Given the description of an element on the screen output the (x, y) to click on. 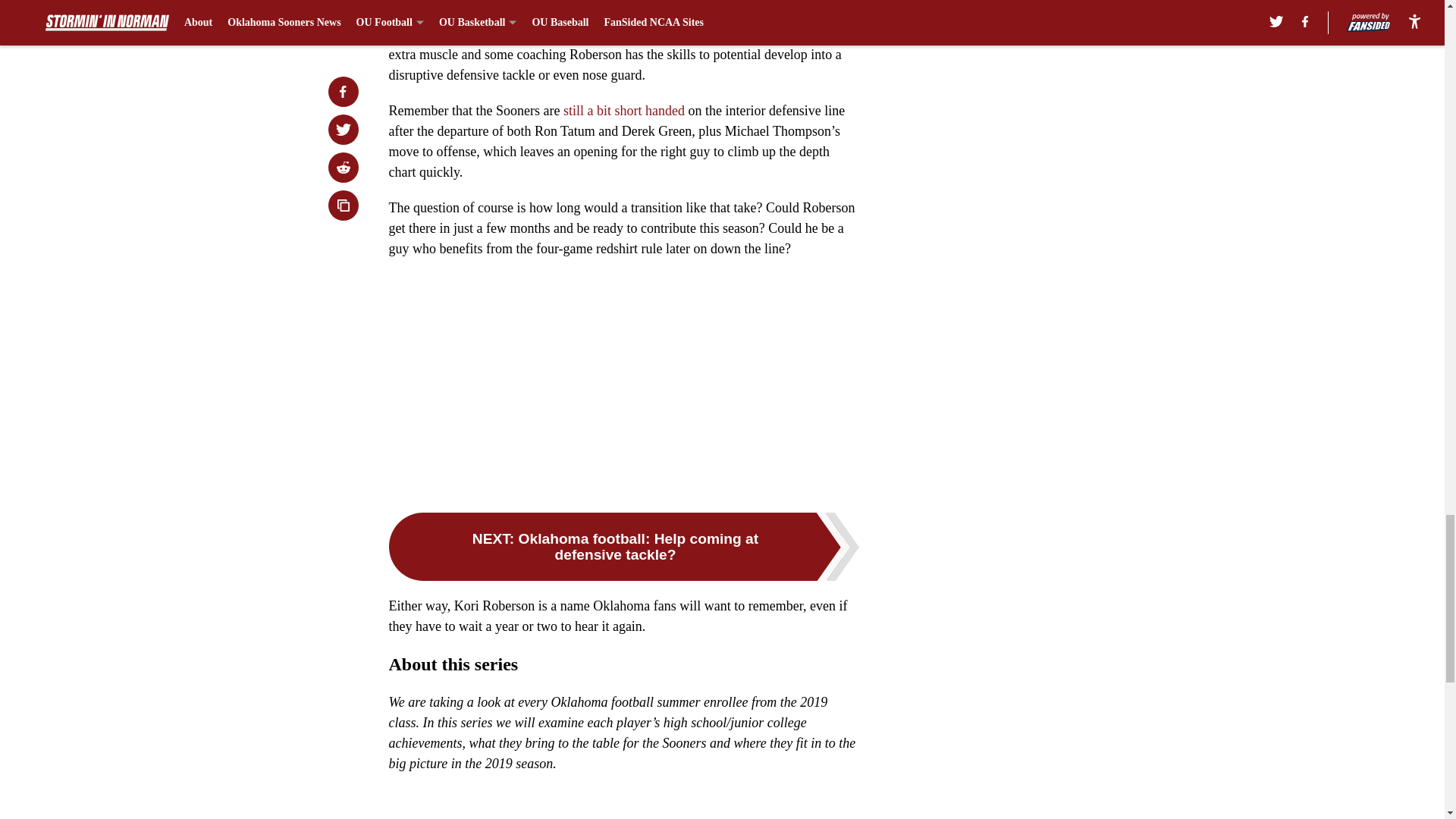
still a bit short handed (621, 110)
Quick-twitch defensive linemen (475, 33)
NEXT: Oklahoma football: Help coming at defensive tackle? (623, 546)
